Given the description of an element on the screen output the (x, y) to click on. 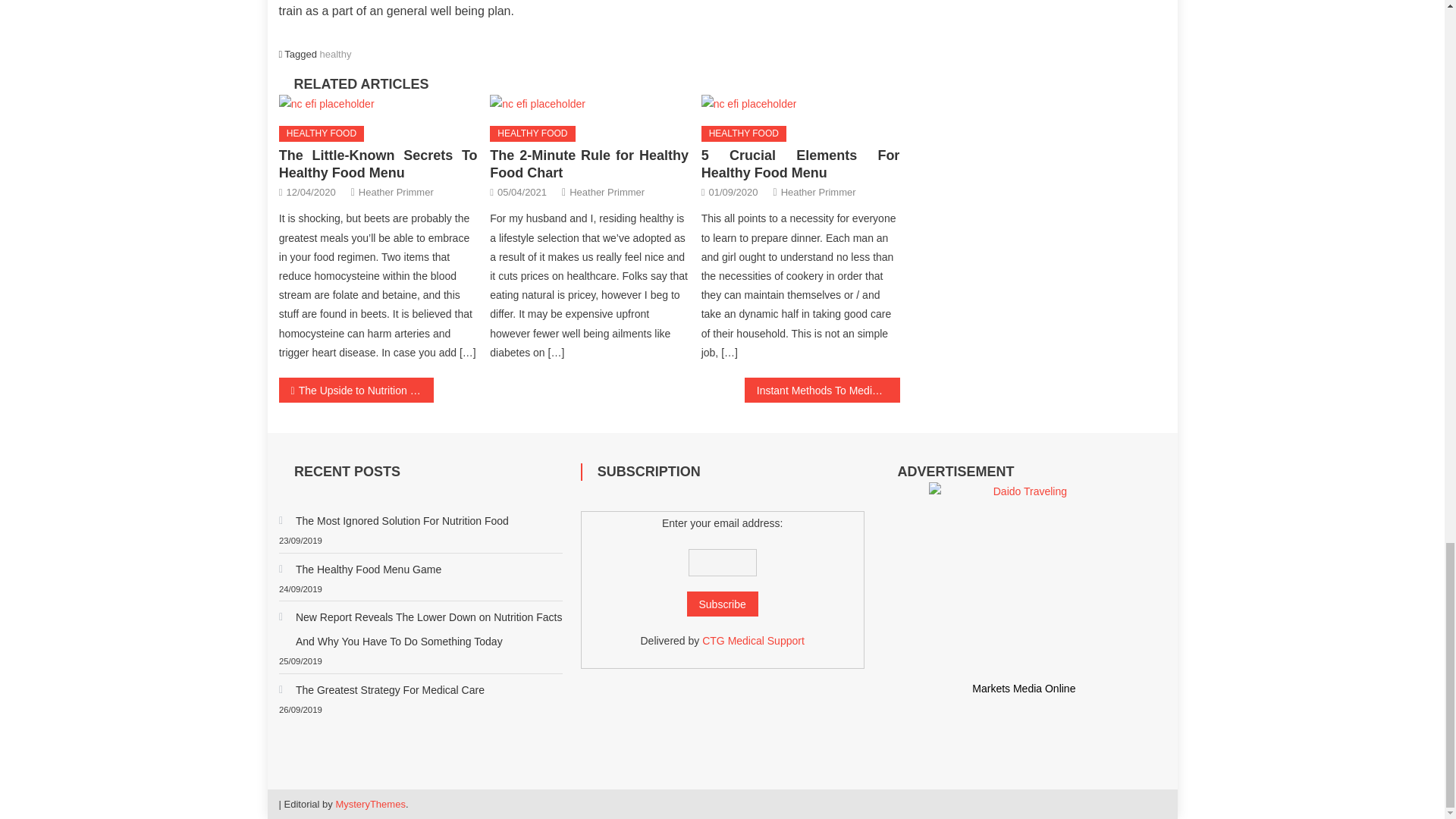
Heather Primmer (607, 191)
Heather Primmer (818, 191)
The 2-Minute Rule for Healthy Food Chart (588, 104)
HEALTHY FOOD (532, 134)
The 2-Minute Rule for Healthy Food Chart (537, 104)
The Upside to Nutrition Food (356, 389)
healthy (336, 53)
Instant Methods To Medical Care In Step-by-step Aspect (821, 389)
5 Crucial Elements For Healthy Food Menu (800, 164)
The 2-Minute Rule for Healthy Food Chart (588, 164)
5 Crucial Elements For Healthy Food Menu (748, 104)
Heather Primmer (395, 191)
Subscribe (722, 603)
The Little-Known Secrets To Healthy Food Menu (378, 164)
The Little-Known Secrets To Healthy Food Menu (326, 104)
